Given the description of an element on the screen output the (x, y) to click on. 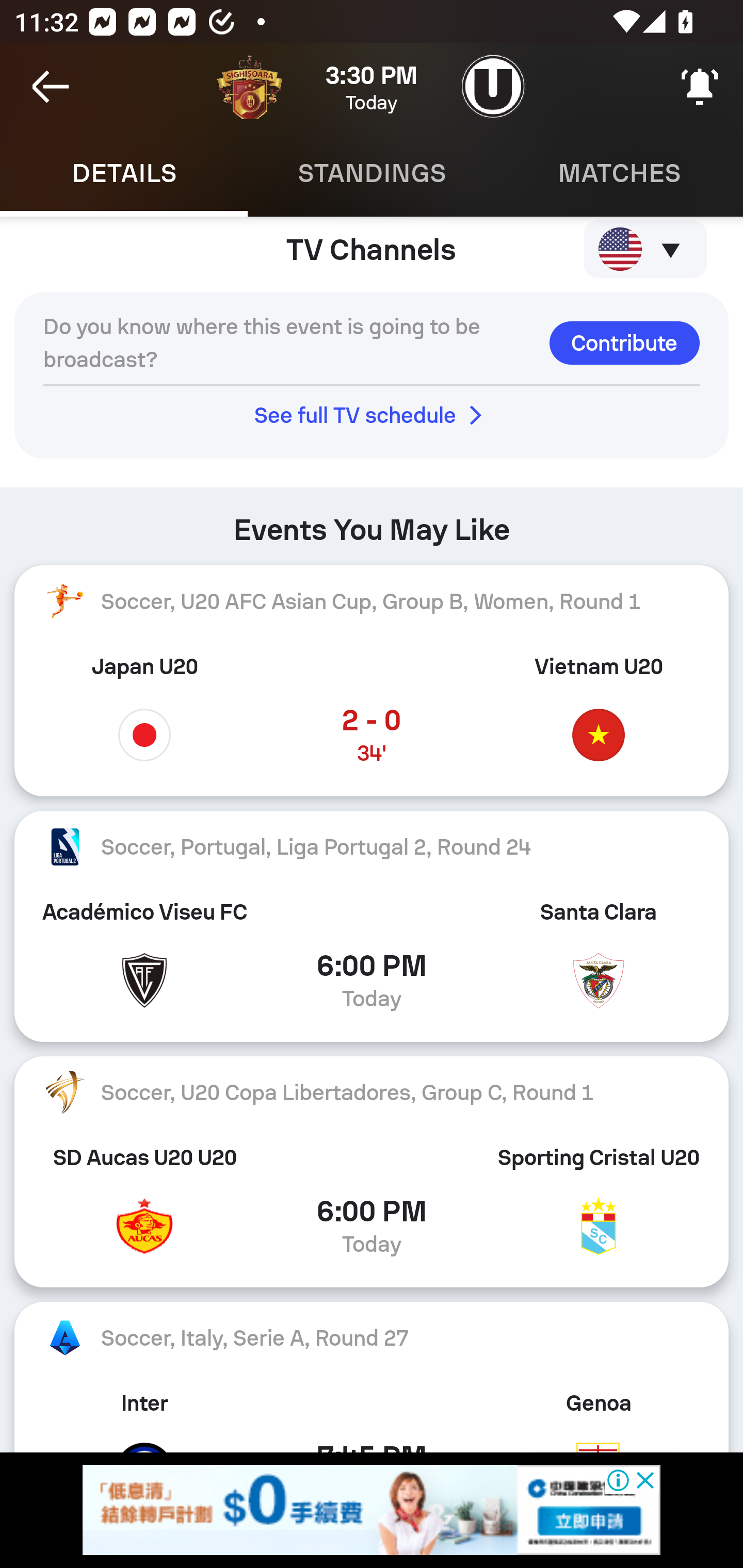
Navigate up (50, 86)
Standings STANDINGS (371, 173)
Matches MATCHES (619, 173)
Contribute (624, 342)
See full TV schedule (371, 414)
Events You May Like (371, 522)
Soccer, U20 AFC Asian Cup, Group B, Women, Round 1 (371, 602)
Soccer, Portugal, Liga Portugal 2, Round 24 (371, 846)
Soccer, U20 Copa Libertadores, Group C, Round 1 (371, 1092)
Soccer, Italy, Serie A, Round 27 (371, 1337)
Advertisement (371, 1509)
